Given the description of an element on the screen output the (x, y) to click on. 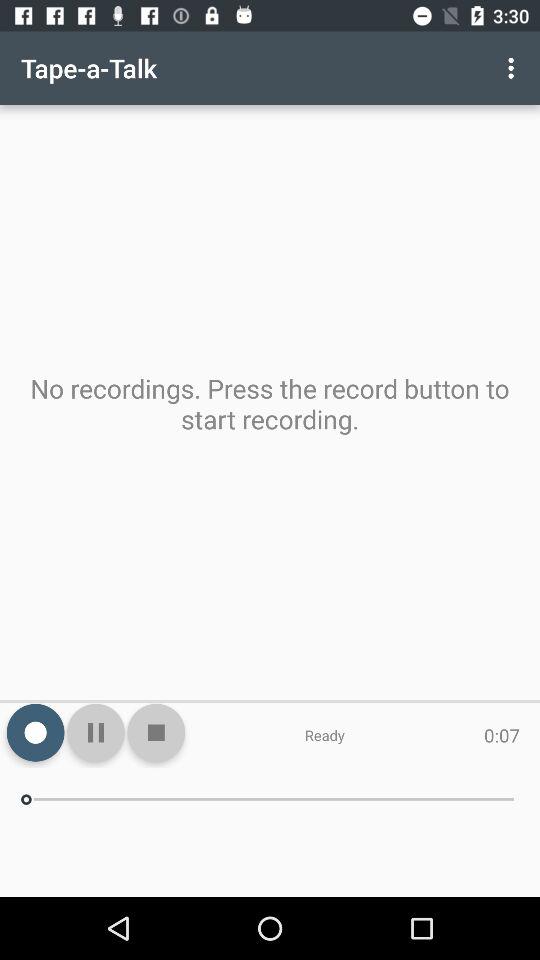
select icon at the top right corner (513, 67)
